Given the description of an element on the screen output the (x, y) to click on. 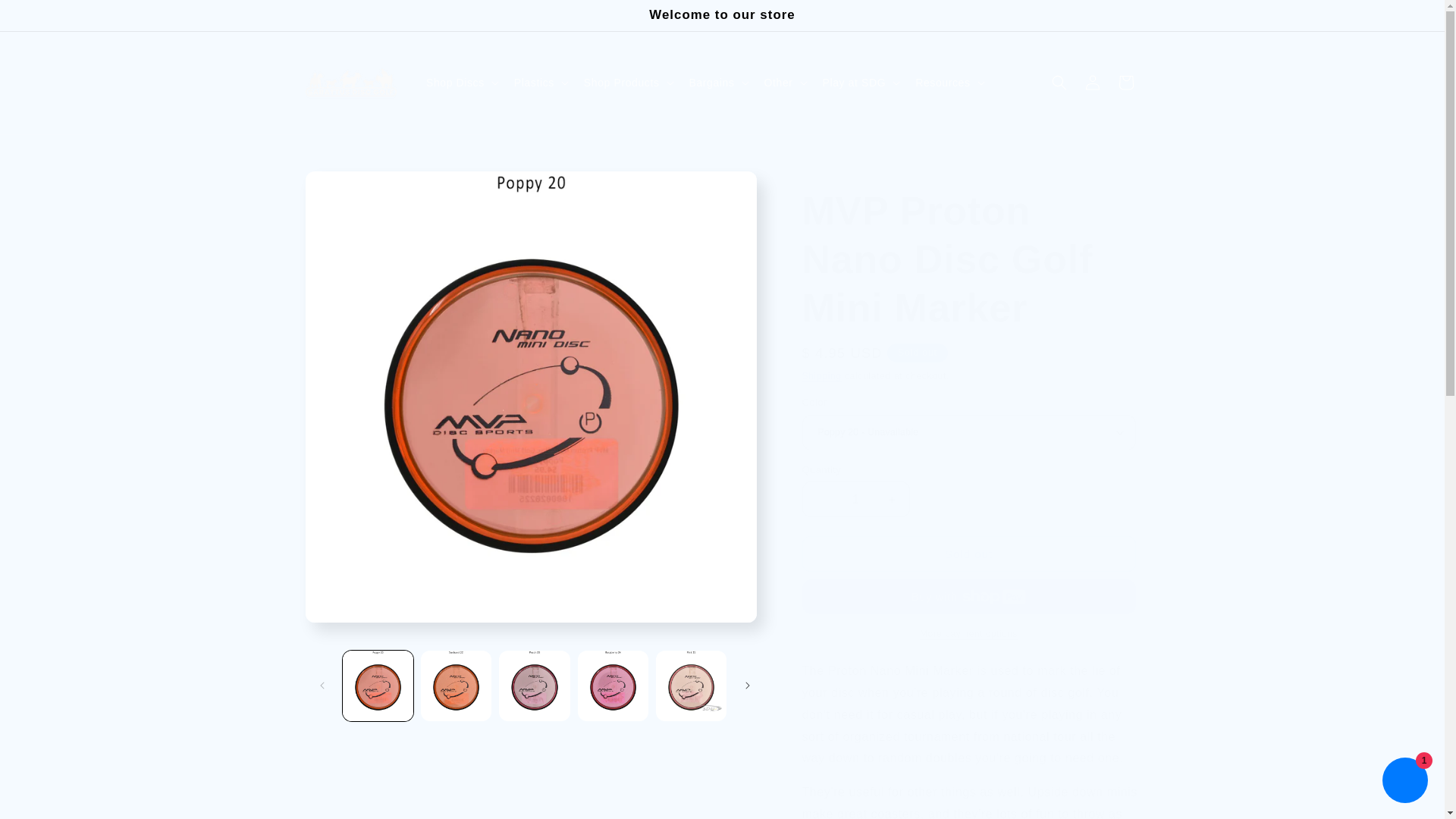
1 (856, 498)
Shopify online store chat (1404, 781)
Skip to content (45, 17)
